Given the description of an element on the screen output the (x, y) to click on. 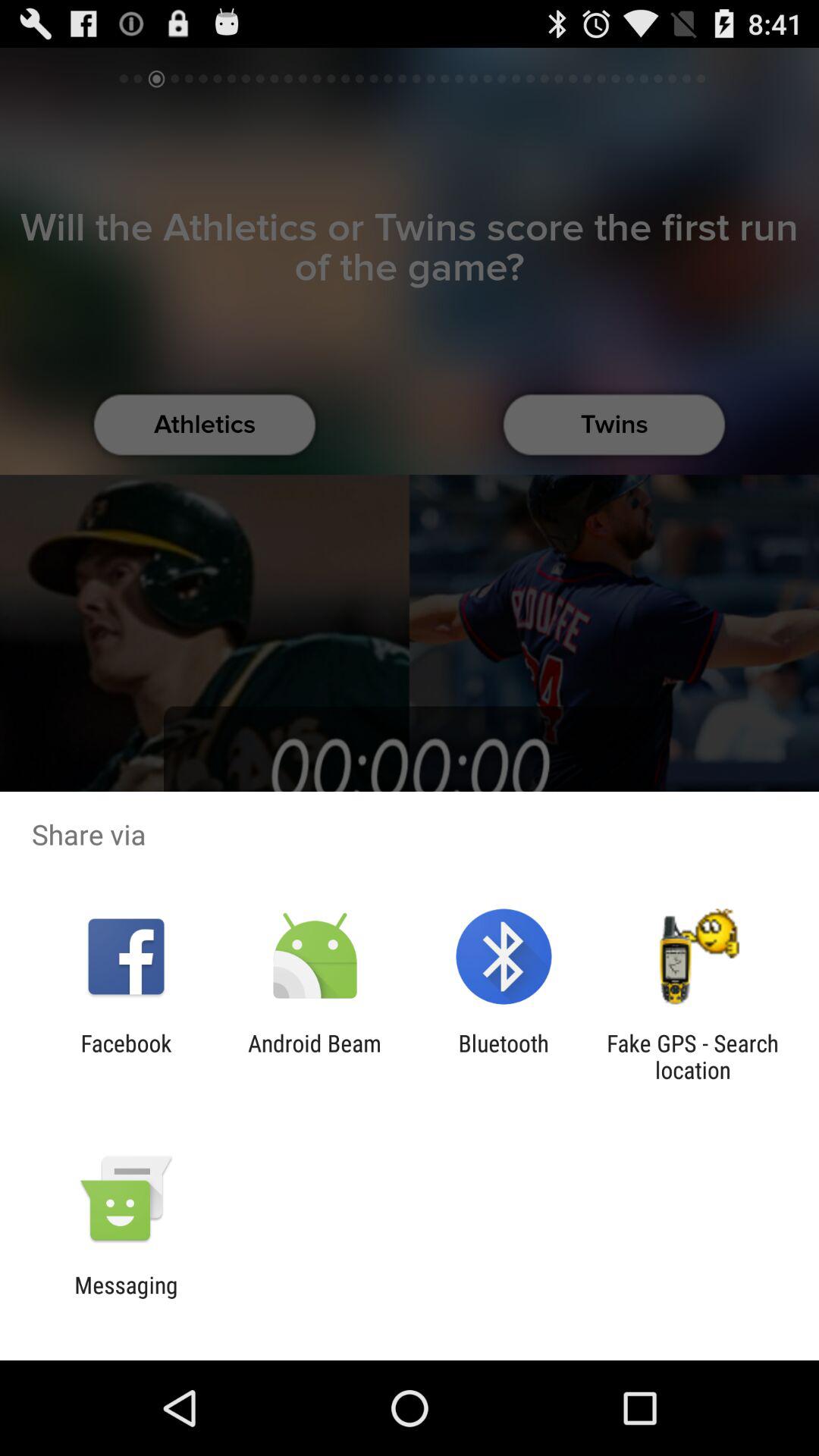
open item next to bluetooth app (692, 1056)
